Given the description of an element on the screen output the (x, y) to click on. 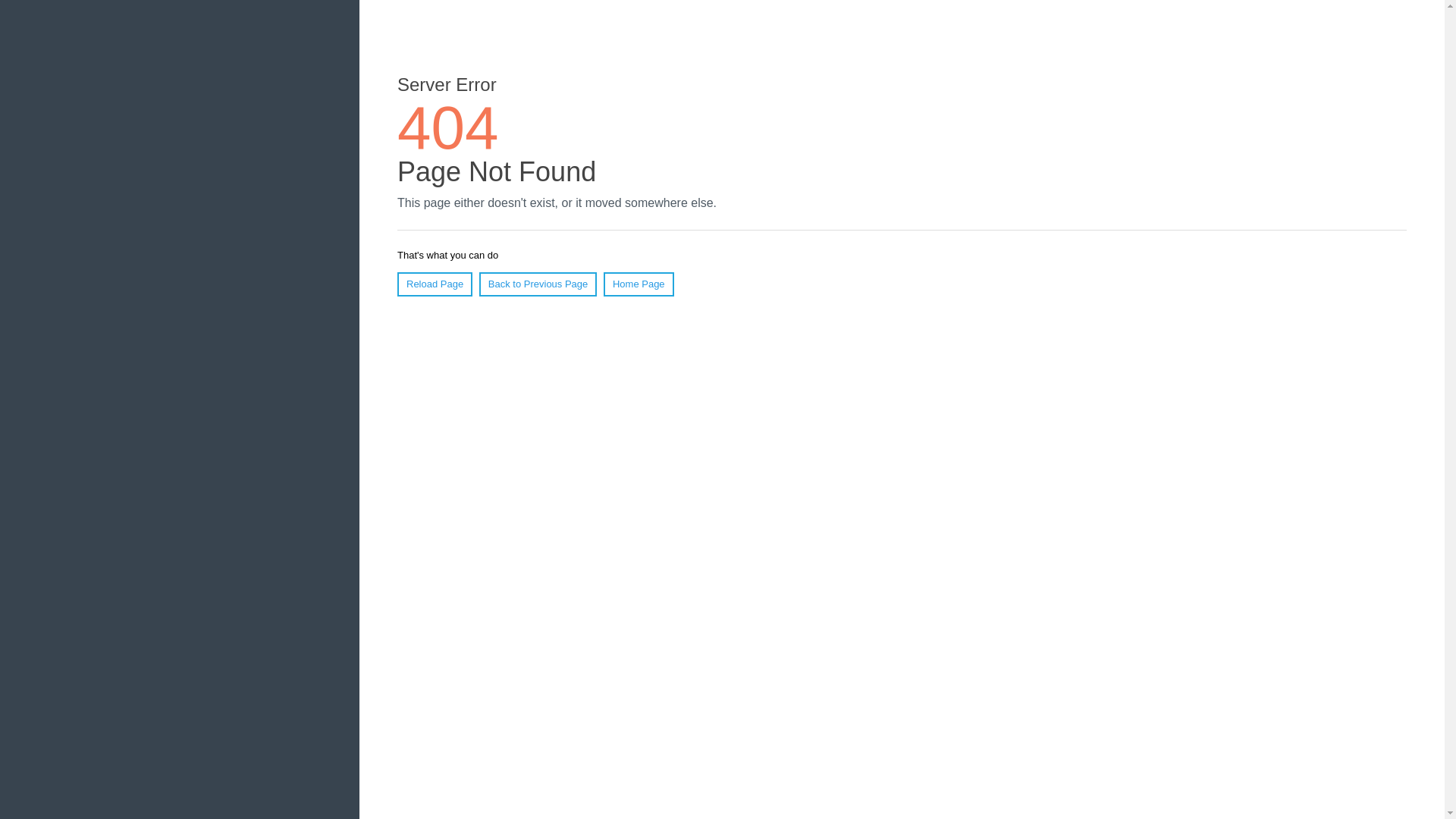
Back to Previous Page Element type: text (538, 284)
Home Page Element type: text (638, 284)
Reload Page Element type: text (434, 284)
